Given the description of an element on the screen output the (x, y) to click on. 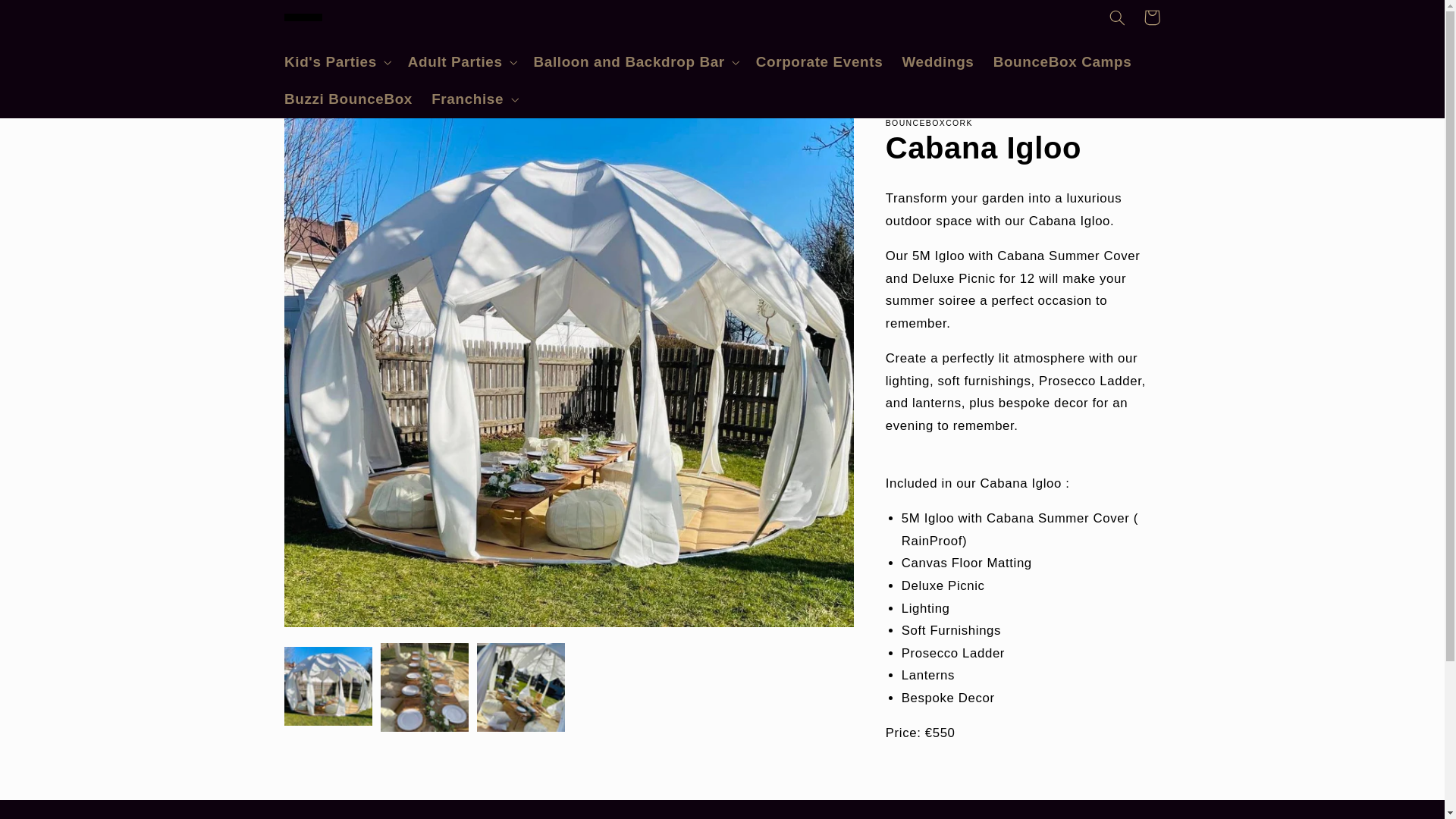
Skip to content (48, 18)
